Given the description of an element on the screen output the (x, y) to click on. 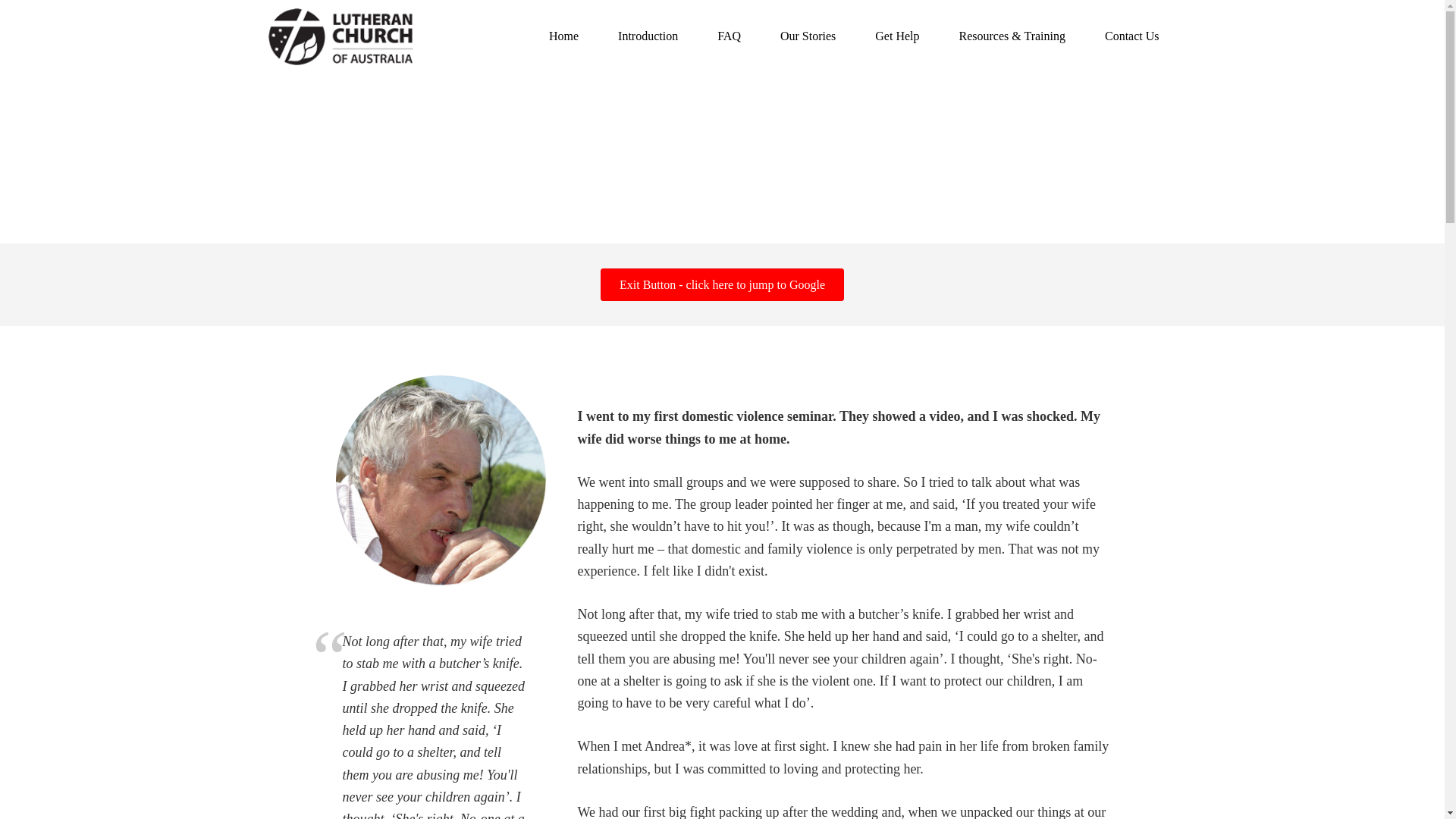
Home (563, 36)
Contact Us (1131, 36)
Exit Button - click here to jump to Google (721, 283)
gregs story (440, 481)
Our Stories (807, 36)
Introduction (647, 36)
HIDDEN HURTS HEALING HEARTS (357, 36)
Get Help (897, 36)
